Given the description of an element on the screen output the (x, y) to click on. 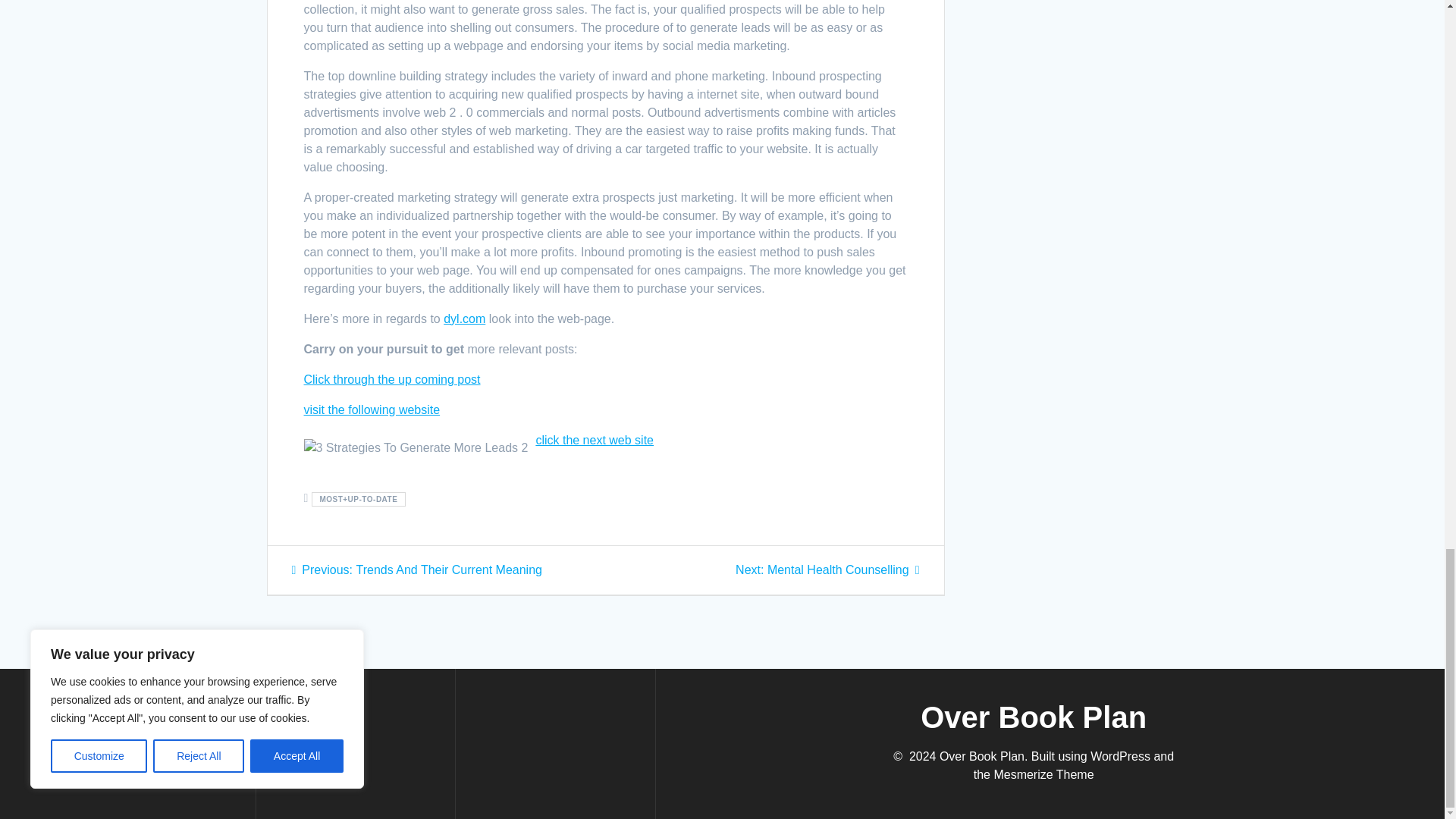
dyl.com (416, 569)
click the next web site (464, 318)
Click through the up coming post (594, 440)
visit the following website (826, 569)
